Given the description of an element on the screen output the (x, y) to click on. 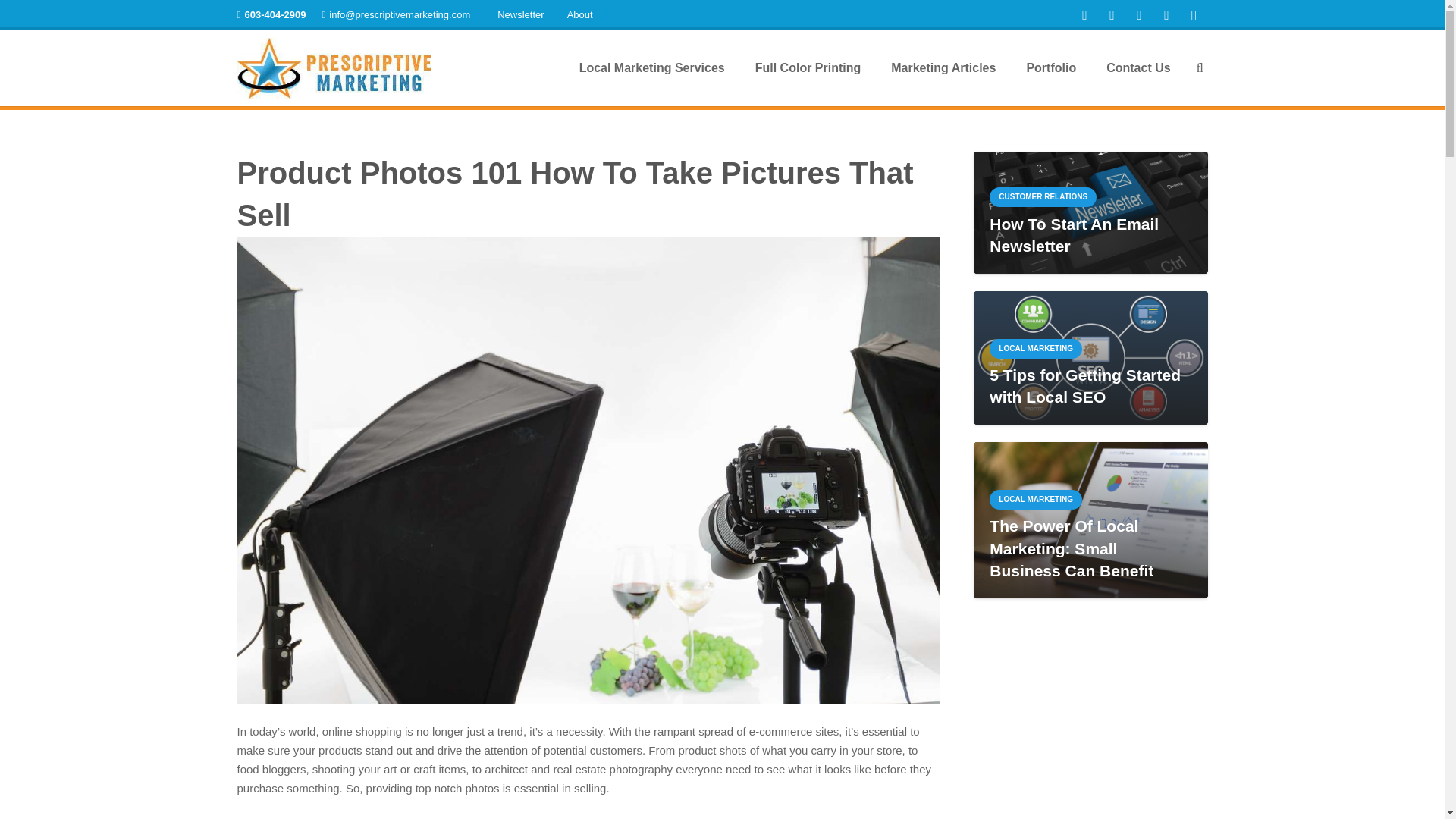
603-404-2909 (270, 14)
Contact Us (1137, 68)
Articles (943, 68)
Newsletter (520, 15)
How To Start An Email Newsletter (1074, 234)
Full Color Printing (807, 68)
Facebook (1083, 14)
Portfolio (1050, 68)
CUSTOMER RELATIONS (1043, 197)
LOCAL MARKETING (1035, 348)
